Given the description of an element on the screen output the (x, y) to click on. 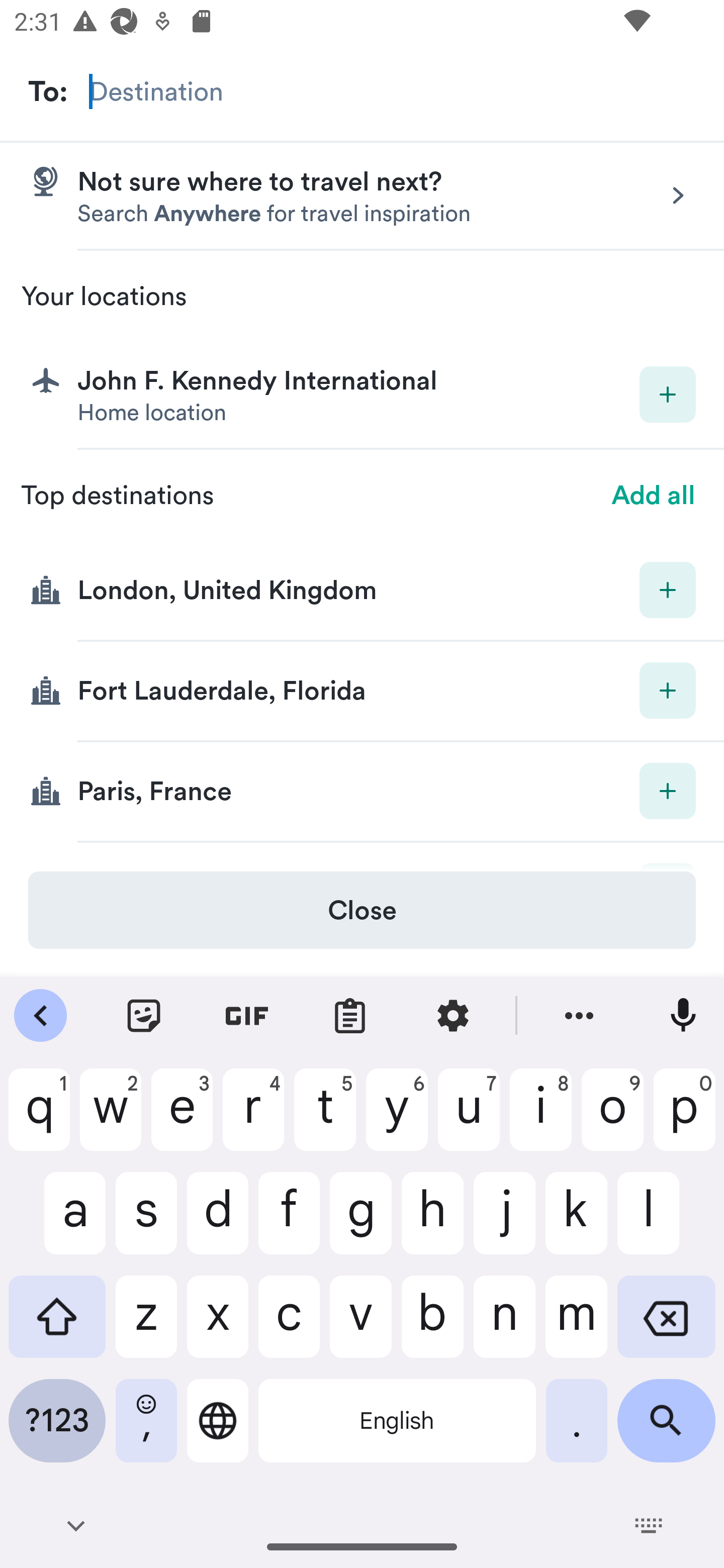
Add destination (667, 394)
Add all (653, 495)
Add destination London, United Kingdom (362, 590)
Add destination (667, 589)
Add destination Fort Lauderdale, Florida (362, 691)
Add destination (667, 689)
Add destination Paris, France (362, 791)
Add destination (667, 790)
Close (361, 909)
